Given the description of an element on the screen output the (x, y) to click on. 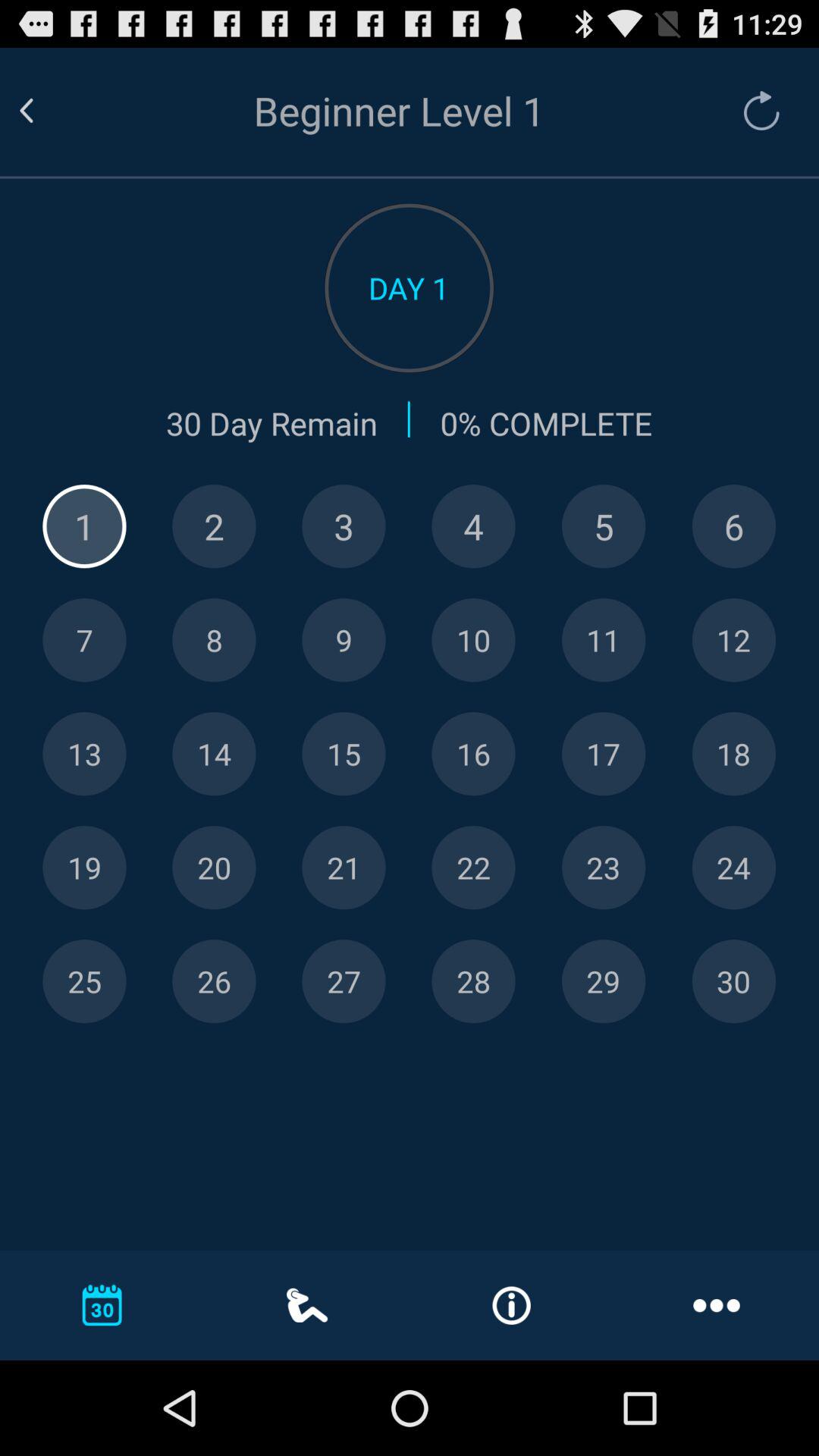
date selection (343, 753)
